Given the description of an element on the screen output the (x, y) to click on. 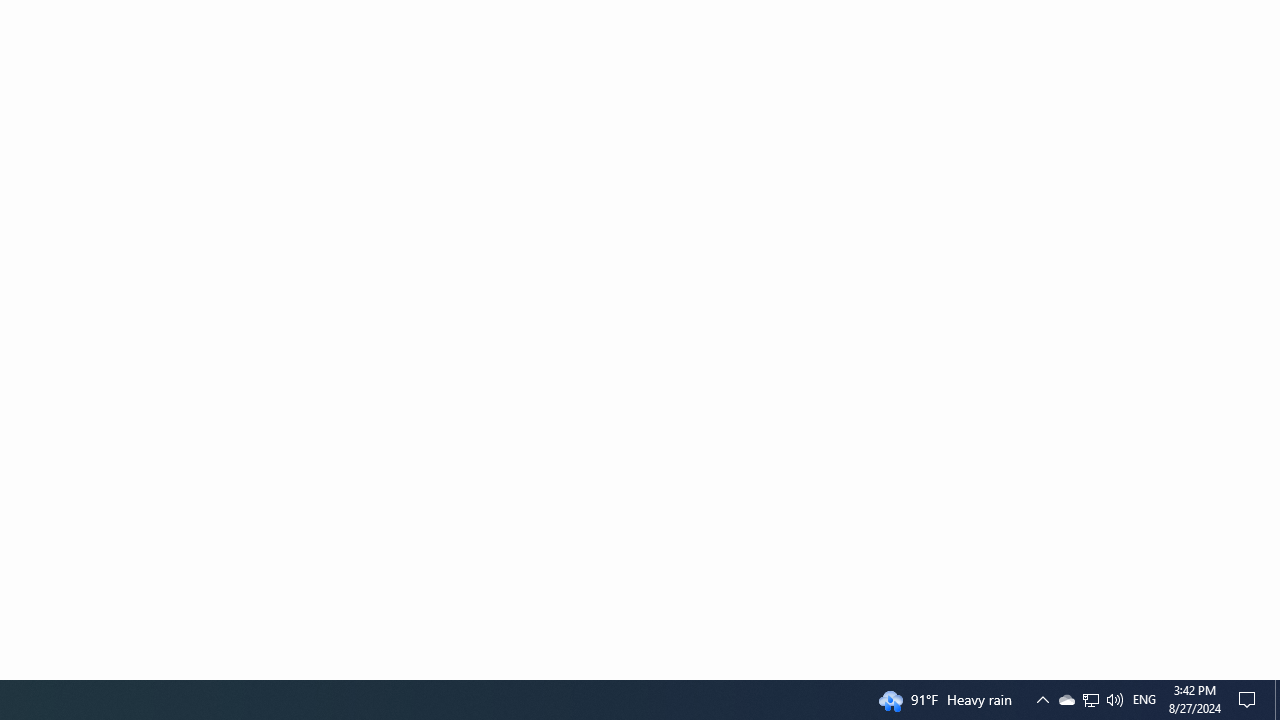
Notification Chevron (1042, 699)
Action Center, No new notifications (1091, 699)
Tray Input Indicator - English (United States) (1250, 699)
User Promoted Notification Area (1144, 699)
Q2790: 100% (1090, 699)
Show desktop (1114, 699)
